Given the description of an element on the screen output the (x, y) to click on. 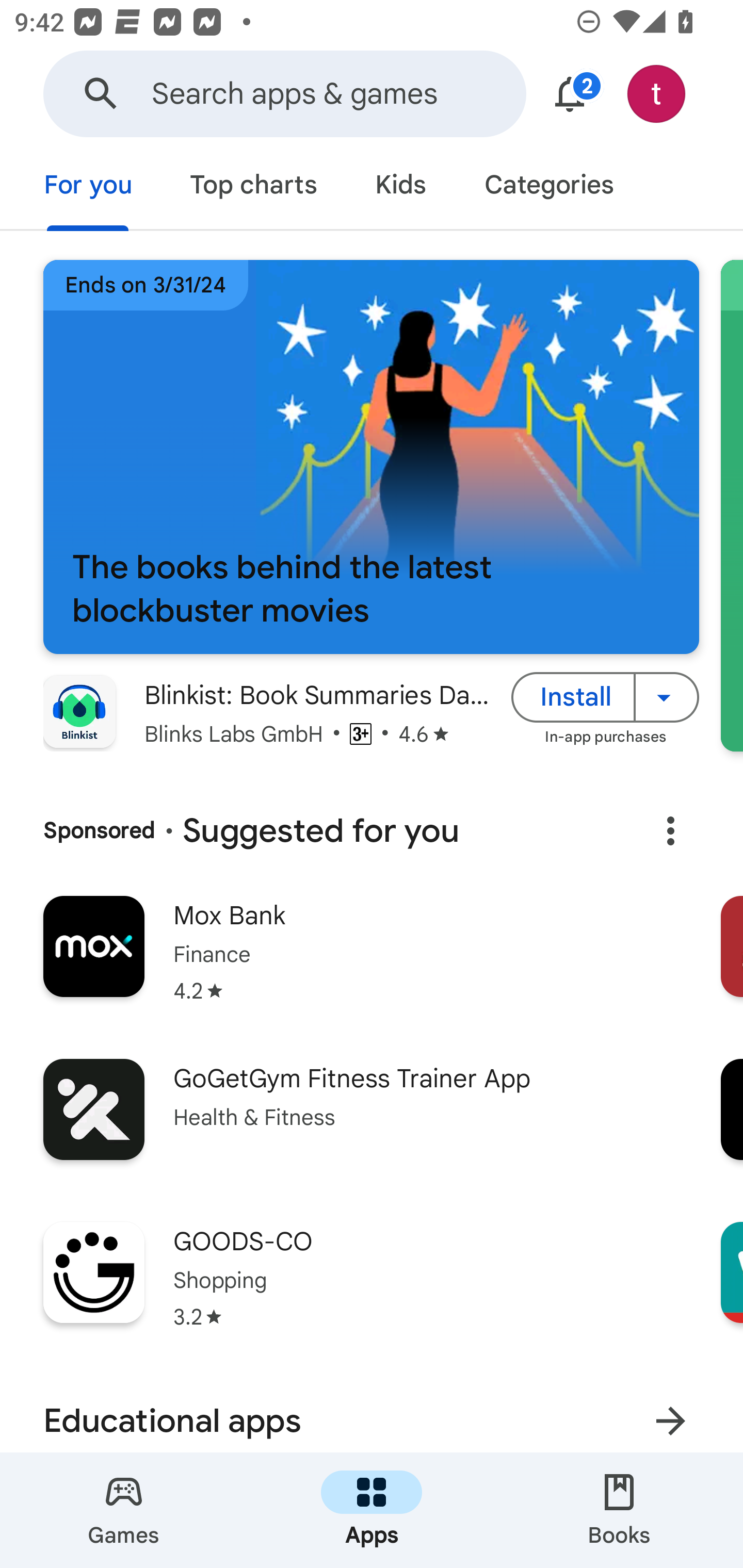
Search Google Play Search apps & games (284, 93)
Search Google Play (100, 93)
Top charts (253, 187)
Kids (400, 187)
Categories (548, 187)
Install Install Install on more devices (605, 696)
Install on more devices (666, 696)
About this ad (670, 830)
Mox Bank
Finance
Star rating: 4.2
 (371, 962)
GoGetGym Fitness Trainer App
Health & Fitness
 (371, 1125)
GOODS-CO
Shopping
Star rating: 3.2
 (371, 1288)
Educational apps More results for Educational apps (371, 1410)
More results for Educational apps (670, 1414)
Games (123, 1509)
Books (619, 1509)
